Given the description of an element on the screen output the (x, y) to click on. 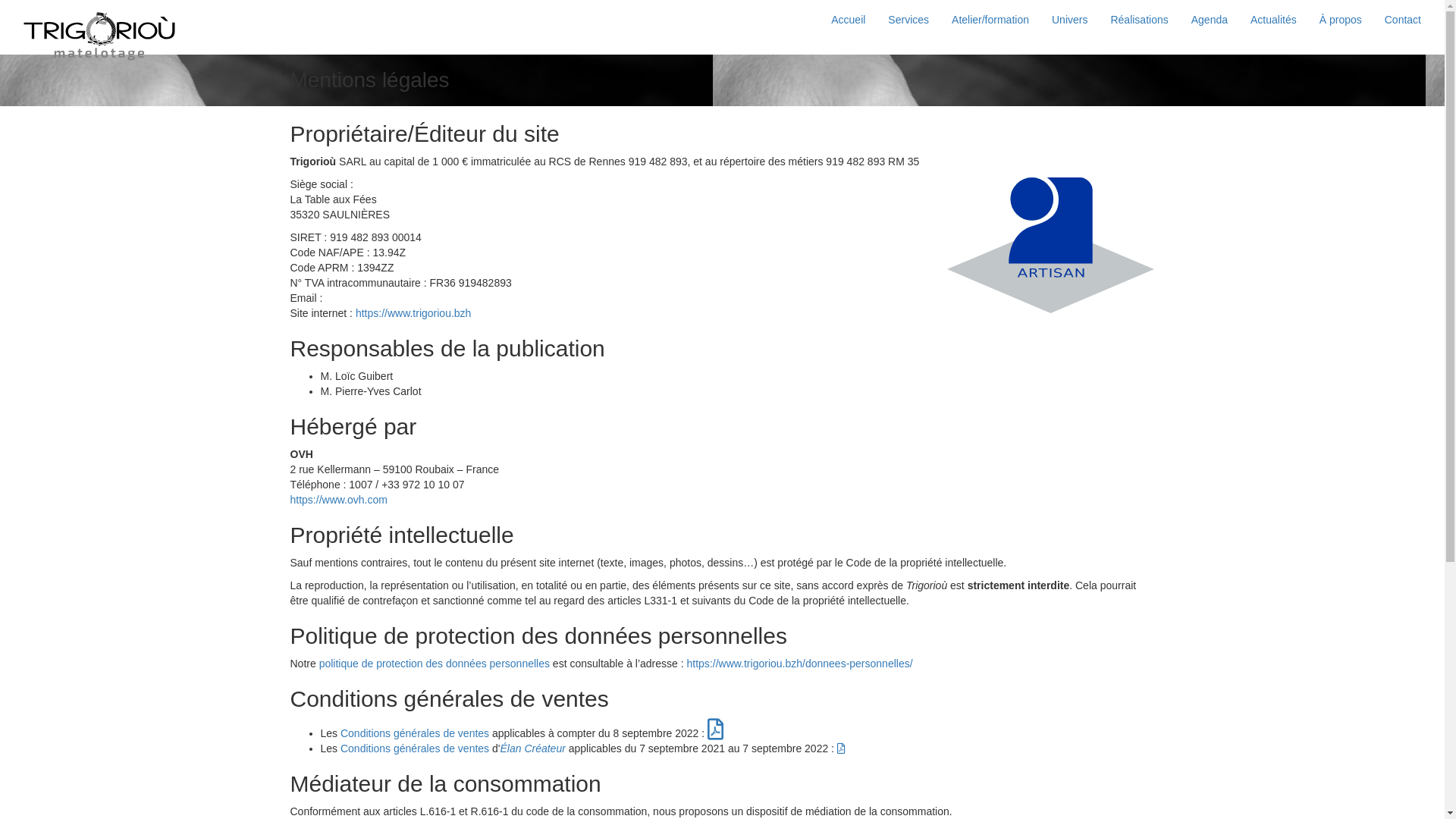
Services Element type: text (908, 19)
https://www.ovh.com Element type: text (337, 499)
https://www.trigoriou.bzh Element type: text (413, 313)
Atelier/formation Element type: text (990, 19)
Univers Element type: text (1069, 19)
Agenda Element type: text (1209, 19)
Contact Element type: text (1402, 19)
https://www.trigoriou.bzh/donnees-personnelles/ Element type: text (800, 663)
Accueil Element type: text (847, 19)
